Given the description of an element on the screen output the (x, y) to click on. 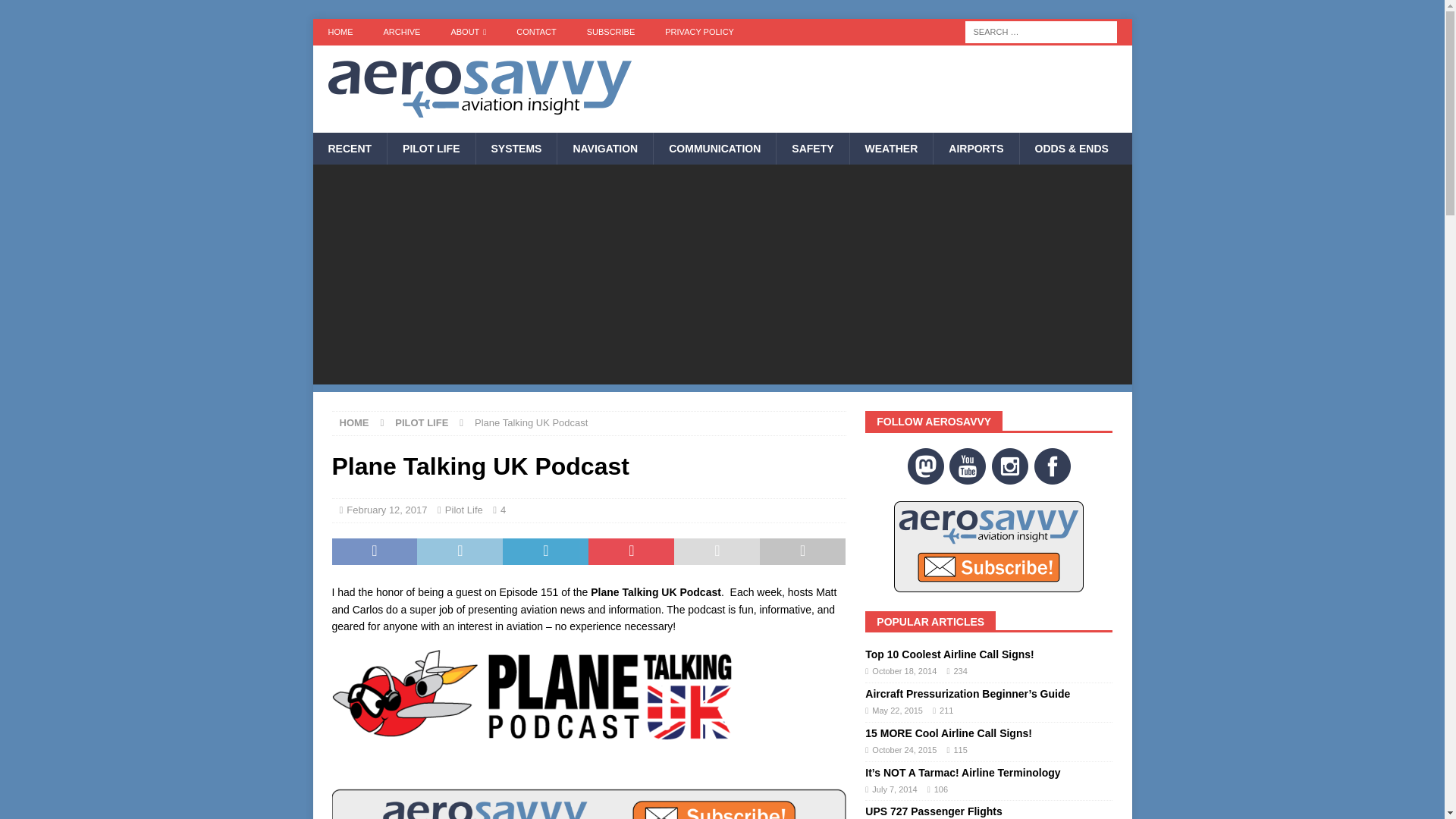
HOME (354, 422)
CONTACT (535, 31)
AIRPORTS (975, 148)
PILOT LIFE (430, 148)
SYSTEMS (516, 148)
WEATHER (890, 148)
COMMUNICATION (714, 148)
HOME (340, 31)
RECENT (350, 148)
SUBSCRIBE (611, 31)
ARCHIVE (401, 31)
Search (56, 11)
ABOUT (467, 31)
PRIVACY POLICY (699, 31)
